Given the description of an element on the screen output the (x, y) to click on. 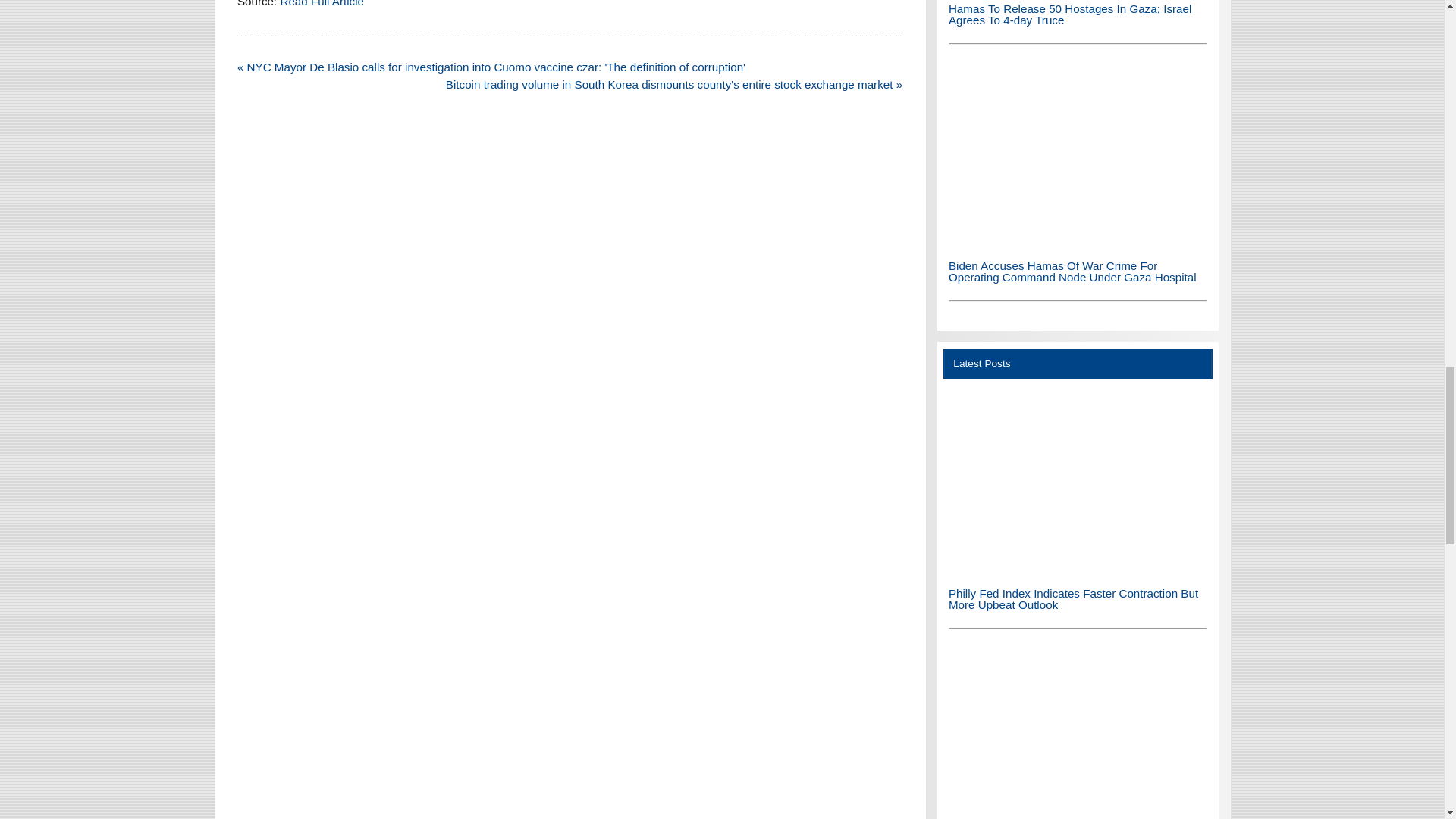
Solana Sparkles In Crypto Rally (1078, 733)
Read Full Article (321, 3)
